Given the description of an element on the screen output the (x, y) to click on. 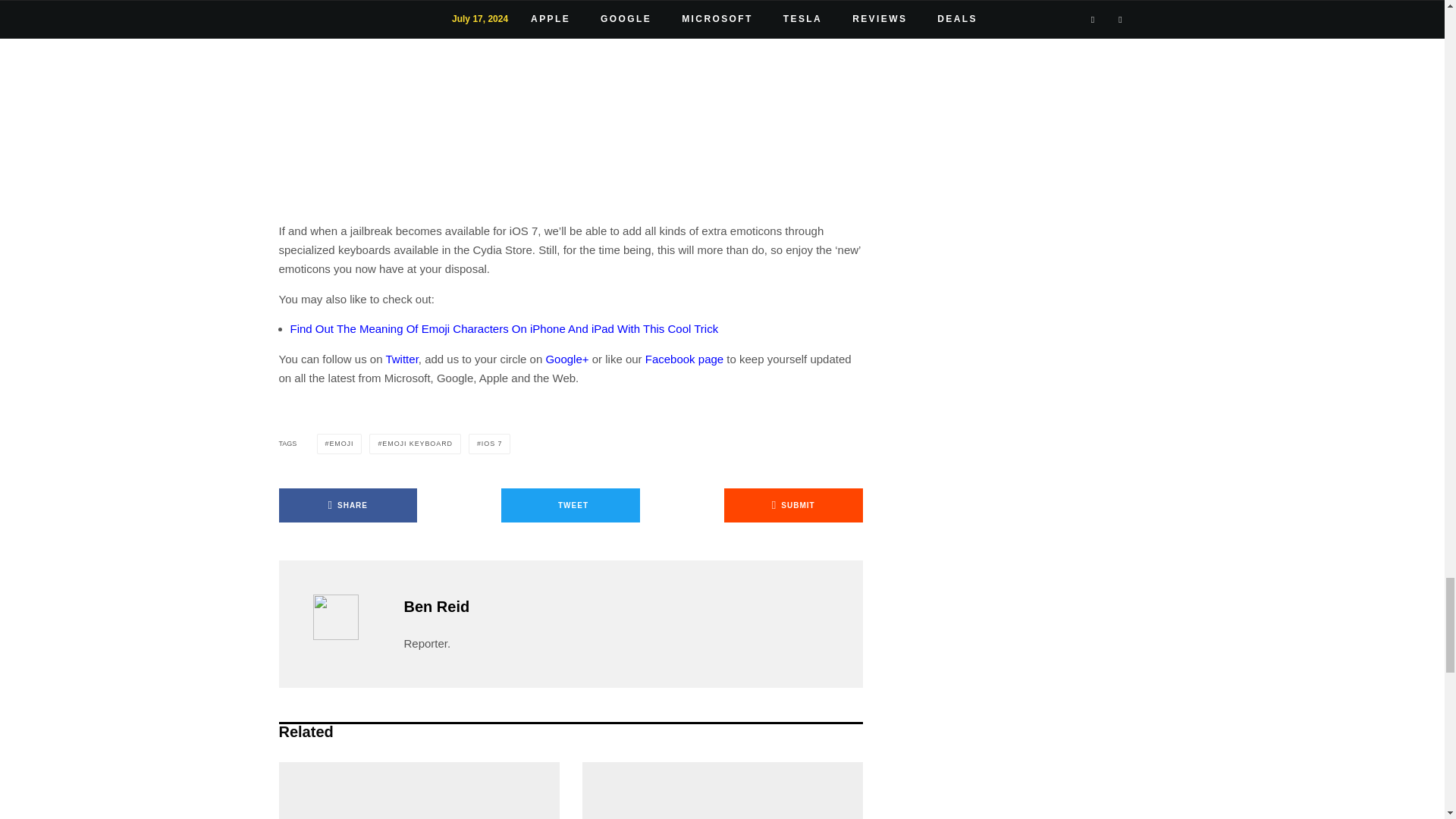
iOS Screenshot 20131001-013742 01 (570, 105)
